Given the description of an element on the screen output the (x, y) to click on. 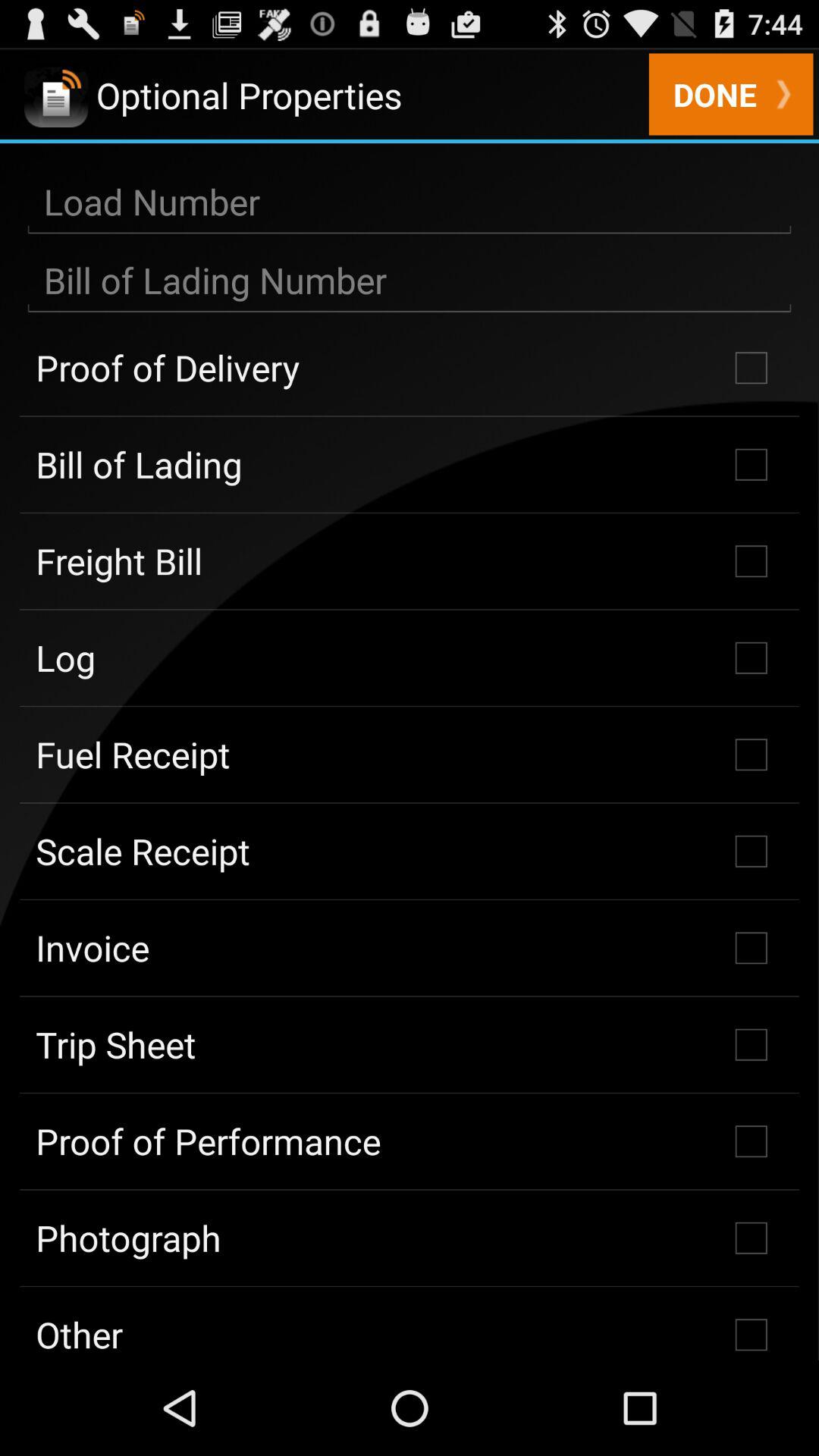
turn on the log (409, 657)
